Given the description of an element on the screen output the (x, y) to click on. 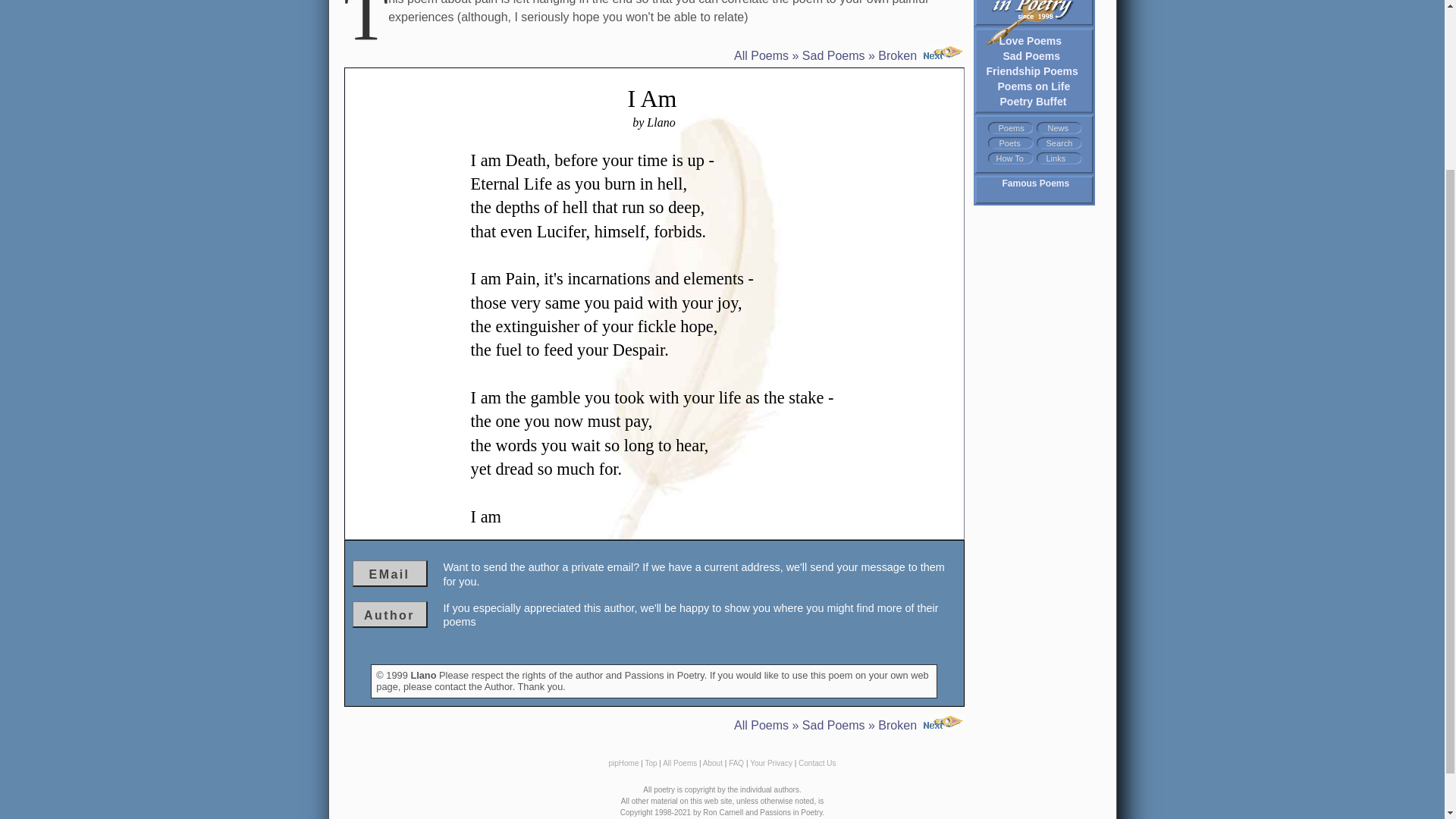
Sad Poems (1031, 55)
Frequently Asked Questions (736, 763)
Sad Poems (833, 725)
News (1058, 128)
Famous Poems (1036, 183)
About (712, 763)
Advanced Search Options (1059, 143)
All Poems (761, 55)
Broken (920, 725)
How To (1009, 158)
Your Privacy (770, 763)
All Poems (761, 725)
Go to next poem (920, 55)
FAQ (736, 763)
EMail (389, 573)
